Given the description of an element on the screen output the (x, y) to click on. 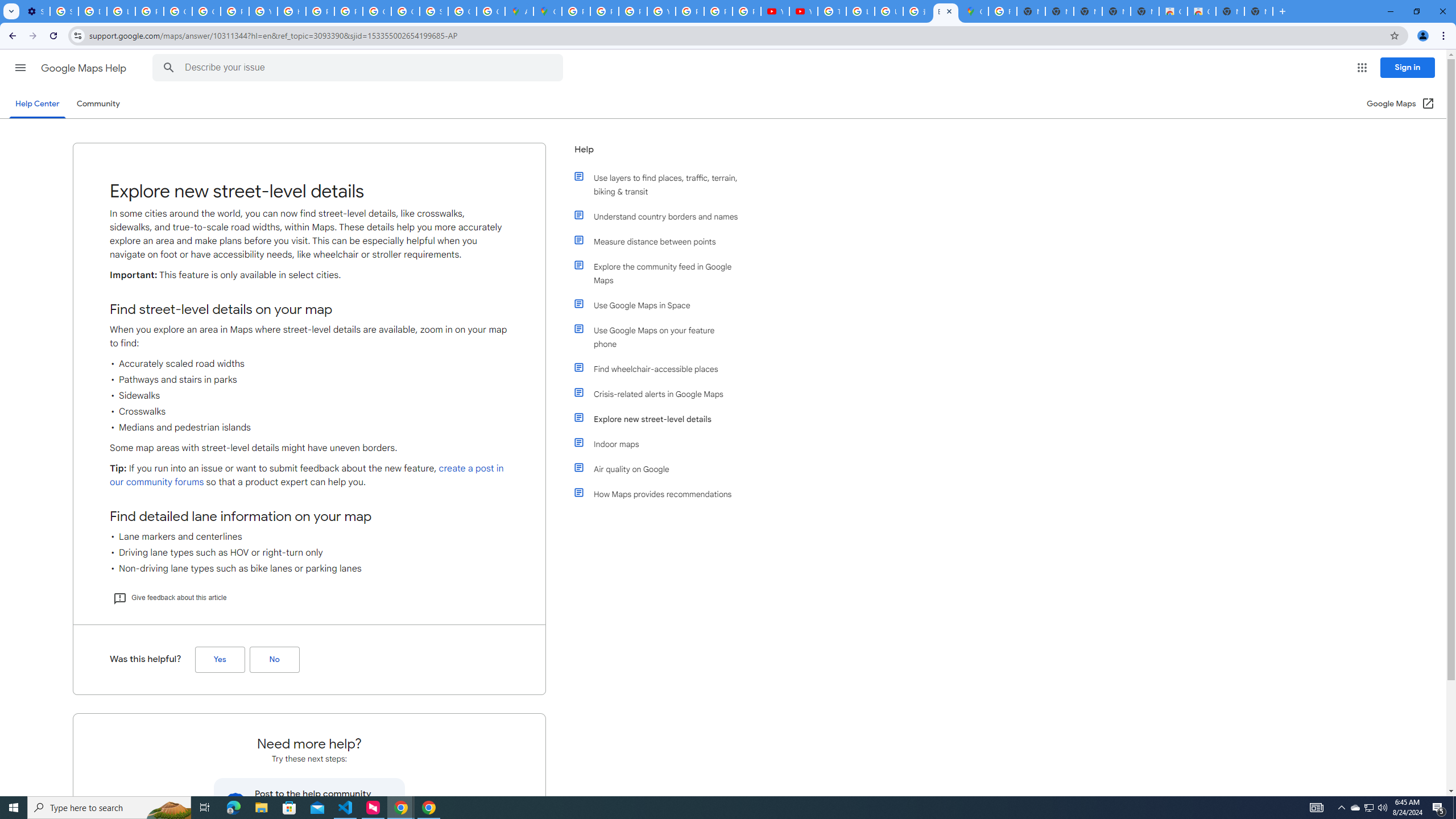
Explore the community feed in Google Maps (661, 273)
Measure distance between points (661, 241)
Privacy Help Center - Policies Help (632, 11)
Classic Blue - Chrome Web Store (1201, 11)
Google Maps (Open in a new window) (1400, 103)
Privacy Help Center - Policies Help (604, 11)
create a post in our community forums (306, 475)
Give feedback about this article (169, 597)
YouTube (263, 11)
